Given the description of an element on the screen output the (x, y) to click on. 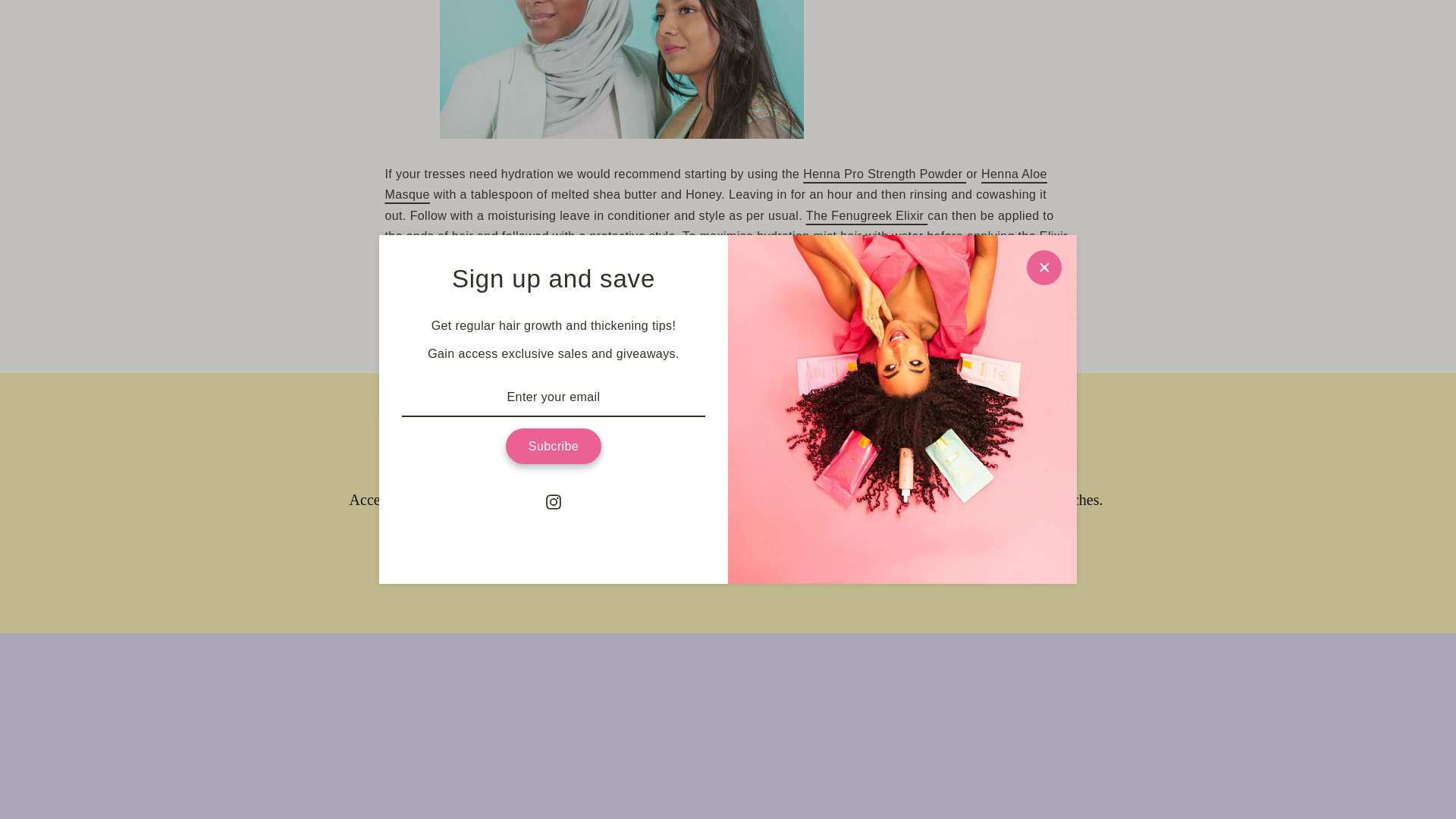
Subscribe (553, 99)
Shop Pay (814, 728)
Mastercard (779, 728)
Maestro (745, 728)
Discover (675, 728)
Union Pay (849, 728)
The Curly Proverbz Fenugreek Elixir (866, 215)
Google Pay (710, 728)
Apple Pay (605, 728)
American Express (570, 728)
Diners Club (640, 728)
Curly Proverbz Henna and Aloe Masque (715, 183)
Curly Proverbz Henna Pro Strength Powder (884, 173)
Visa (884, 728)
Curly Proverbz  on Instagram (553, 154)
